Given the description of an element on the screen output the (x, y) to click on. 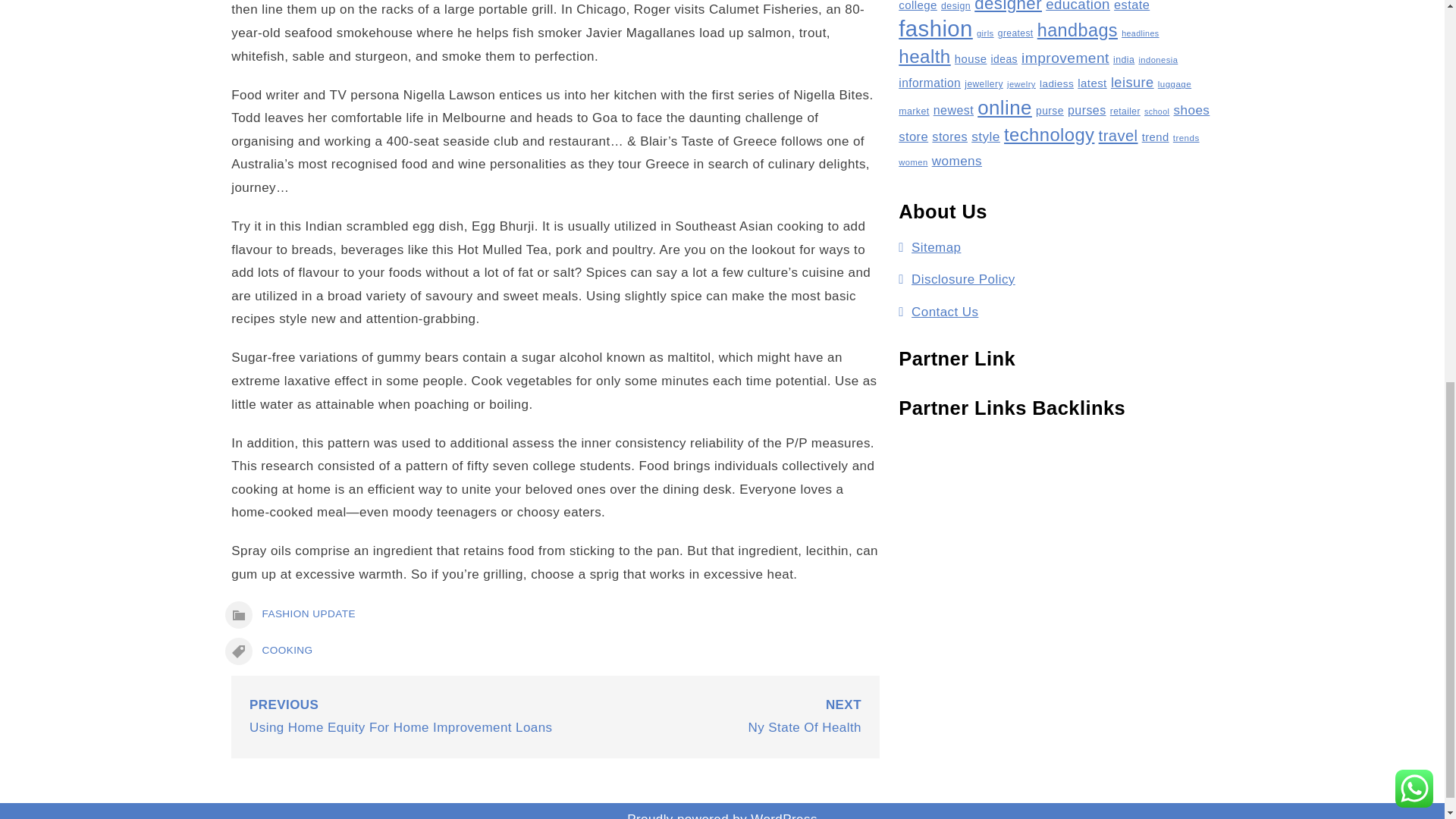
fashion (935, 27)
FASHION UPDATE (308, 613)
estate (1131, 5)
designer (1008, 6)
college (917, 5)
greatest (1015, 32)
design (955, 5)
COOKING (287, 650)
education (1077, 6)
handbags (1077, 30)
